Given the description of an element on the screen output the (x, y) to click on. 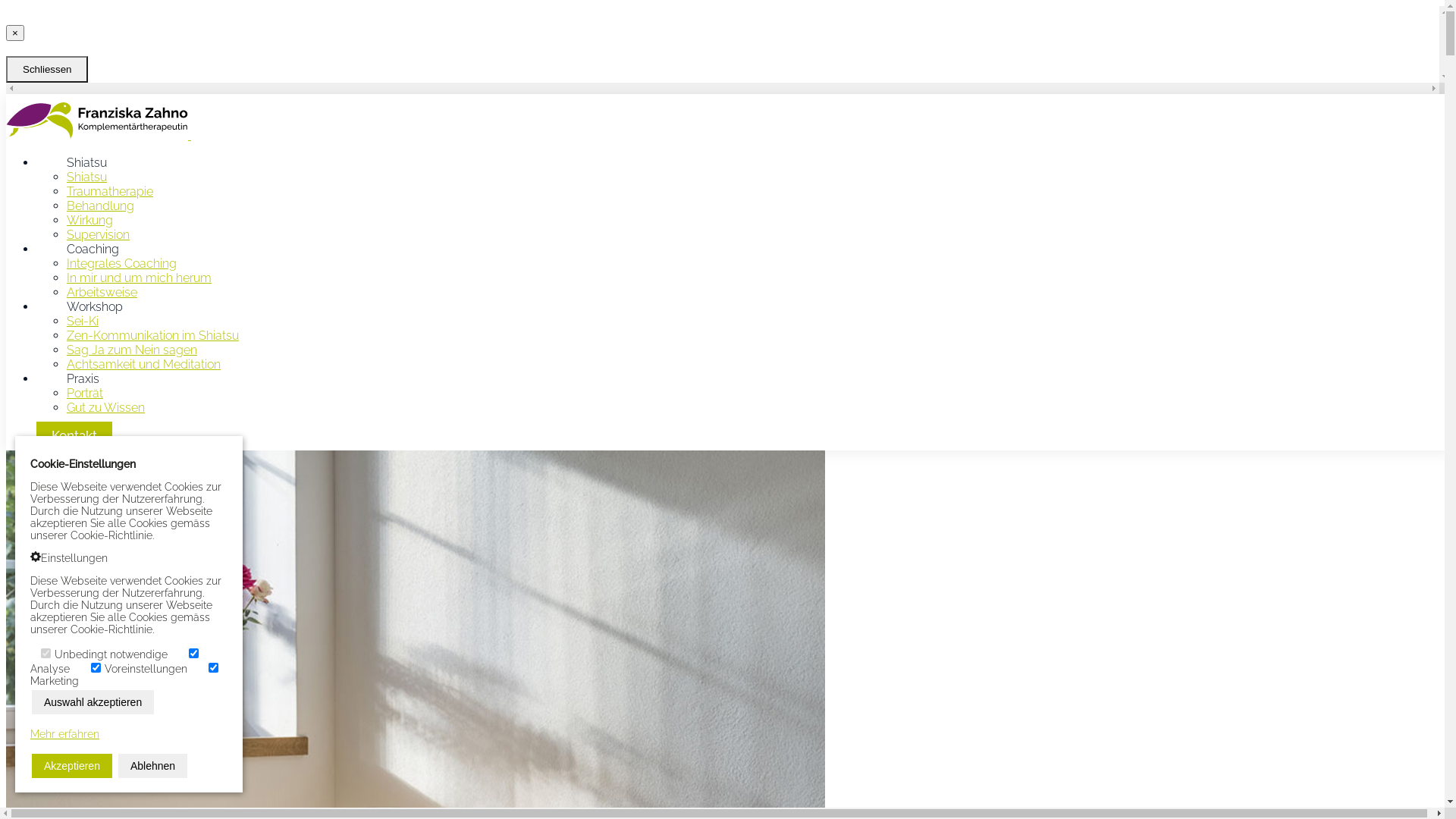
Wirkung Element type: text (89, 220)
Auswahl akzeptieren Element type: text (92, 702)
Coaching Element type: text (92, 248)
Shiatsu Element type: text (86, 162)
Ablehnen Element type: text (152, 765)
Behandlung Element type: text (100, 205)
Sei-Ki Element type: text (82, 320)
Integrales Coaching Element type: text (121, 263)
Kontakt Element type: text (74, 434)
Schliessen Element type: text (46, 69)
Supervision Element type: text (97, 234)
Zen-Kommunikation im Shiatsu Element type: text (152, 335)
Praxis Element type: text (82, 378)
Shiatsu Element type: text (86, 176)
Arbeitsweise Element type: text (101, 292)
Workshop Element type: text (94, 306)
In mir und um mich herum Element type: text (138, 277)
Akzeptieren Element type: text (71, 765)
Achtsamkeit und Meditation Element type: text (143, 364)
Mehr erfahren Element type: text (64, 734)
Gut zu Wissen Element type: text (105, 407)
Sag Ja zum Nein sagen Element type: text (131, 349)
Traumatherapie Element type: text (109, 191)
